Given the description of an element on the screen output the (x, y) to click on. 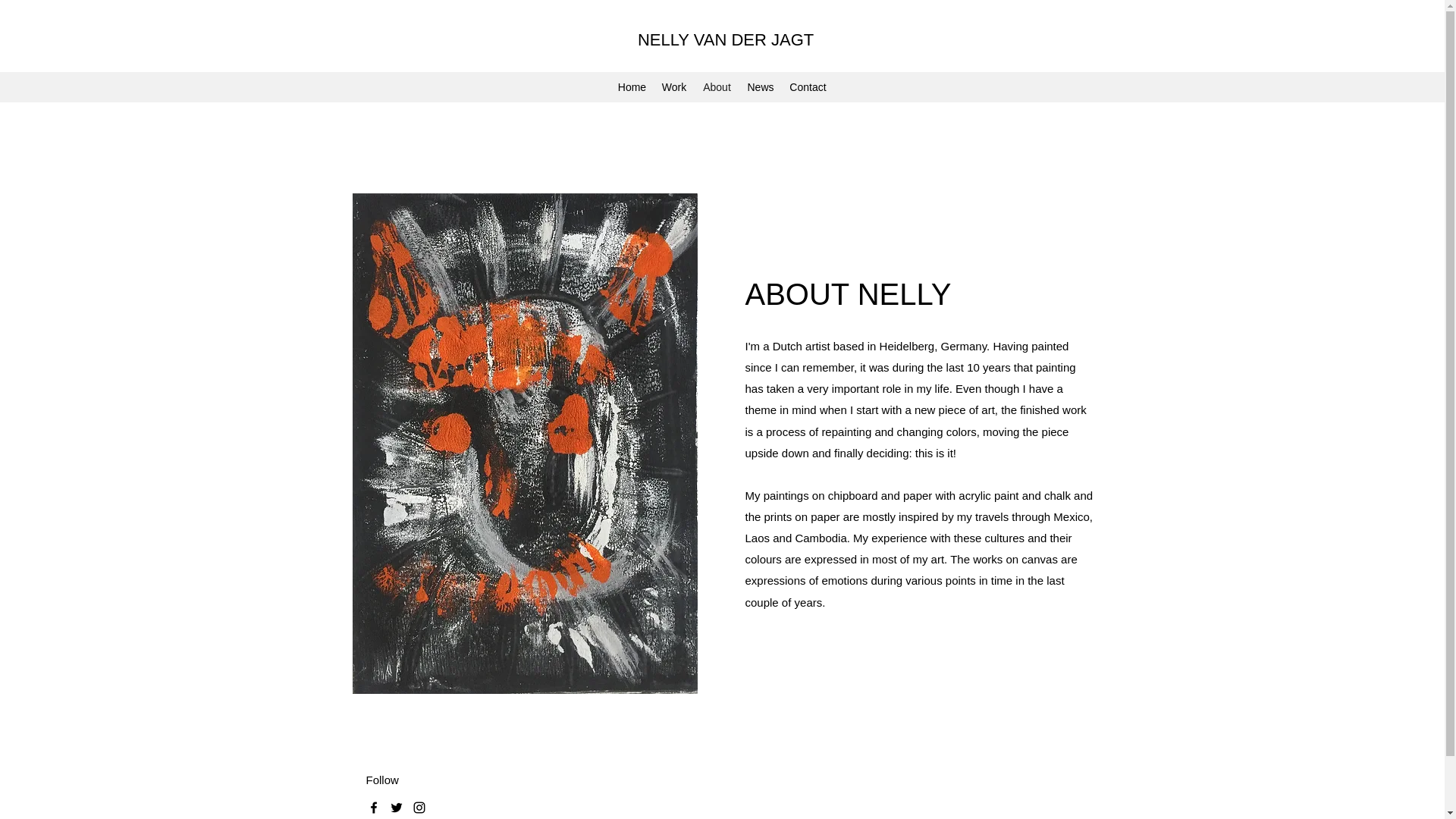
NELLY VAN DER JAGT (725, 39)
Home (631, 87)
News (759, 87)
Contact (807, 87)
Work (673, 87)
About (716, 87)
